Given the description of an element on the screen output the (x, y) to click on. 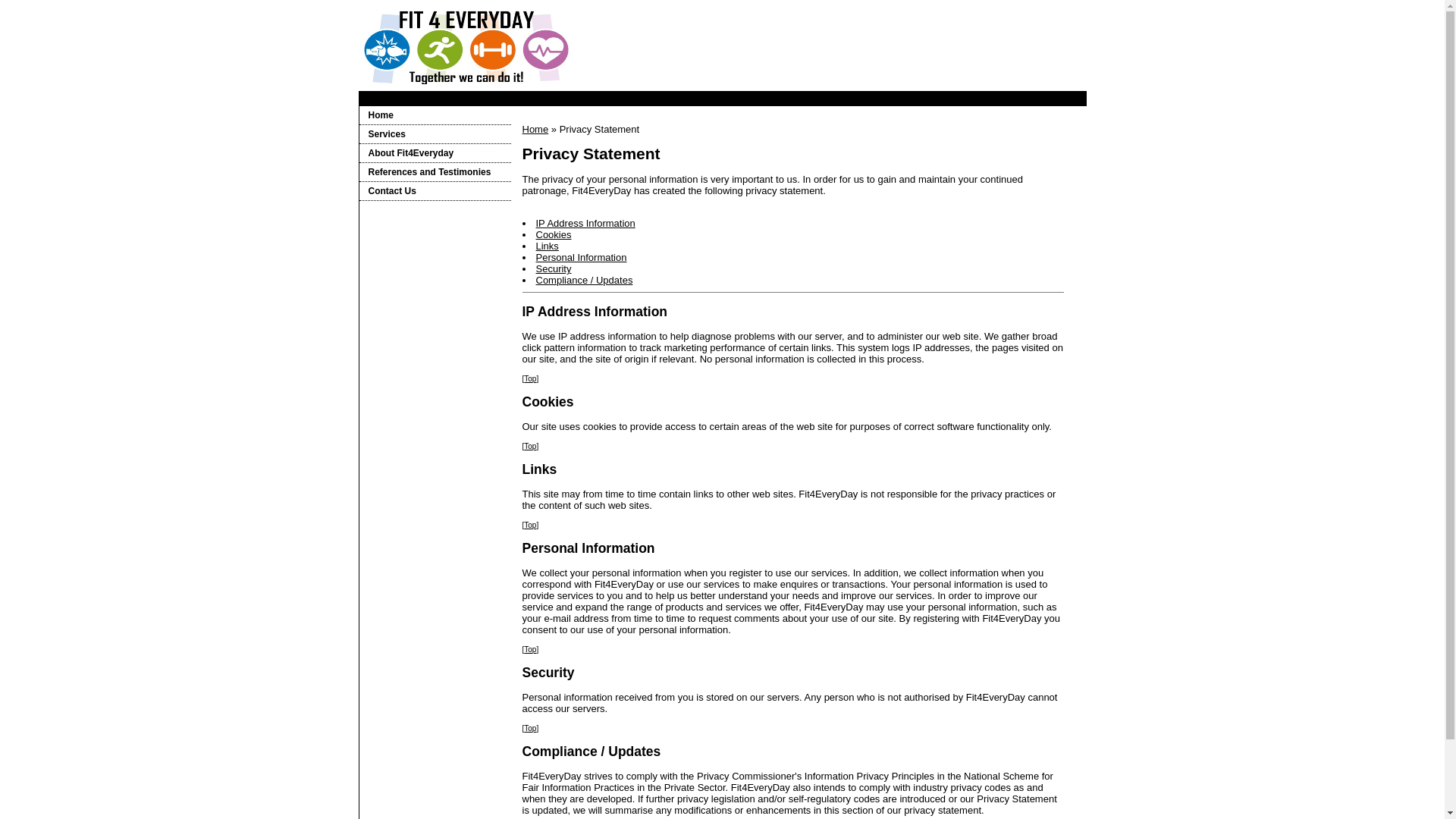
Home Element type: text (435, 115)
Compliance / Updates Element type: text (583, 279)
Cookies Element type: text (553, 234)
IP Address Information Element type: text (584, 223)
Top Element type: text (530, 446)
Top Element type: text (530, 524)
Personal Information Element type: text (580, 257)
Links Element type: text (546, 245)
Home Element type: text (534, 128)
Contact Us Element type: text (435, 191)
Top Element type: text (530, 728)
Top Element type: text (530, 378)
Security Element type: text (553, 268)
Services Element type: text (435, 134)
Top Element type: text (530, 649)
About Fit4Everyday Element type: text (435, 153)
References and Testimonies Element type: text (435, 172)
